Given the description of an element on the screen output the (x, y) to click on. 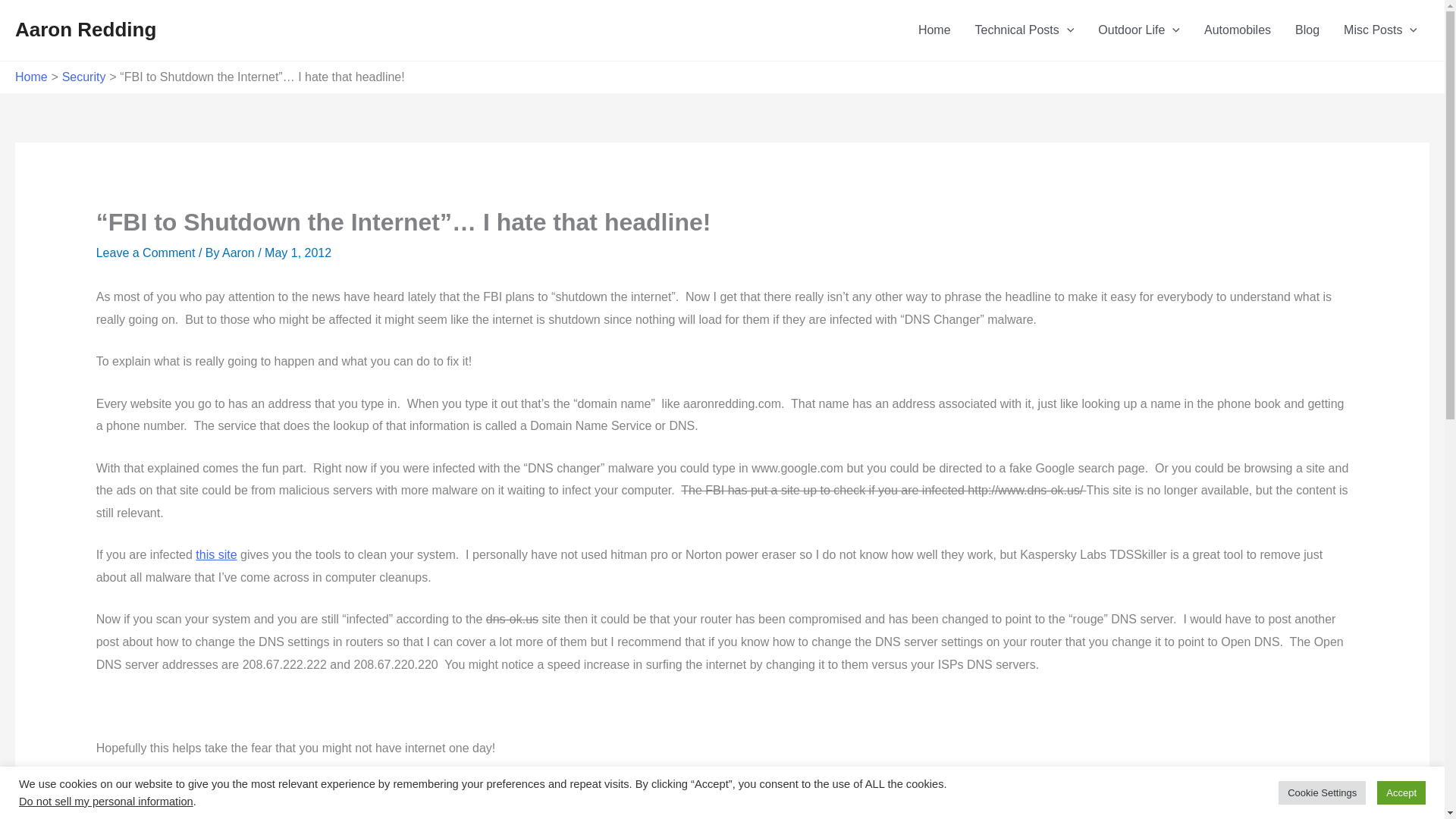
Click to share on Facebook (138, 814)
Aaron (239, 252)
Technical Posts (1024, 30)
Click to email a link to a friend (290, 814)
Outdoor Life (1139, 30)
Click to share on Twitter (108, 814)
Home (933, 30)
Home (31, 76)
Automobiles (1237, 30)
View all posts by Aaron (239, 252)
